Given the description of an element on the screen output the (x, y) to click on. 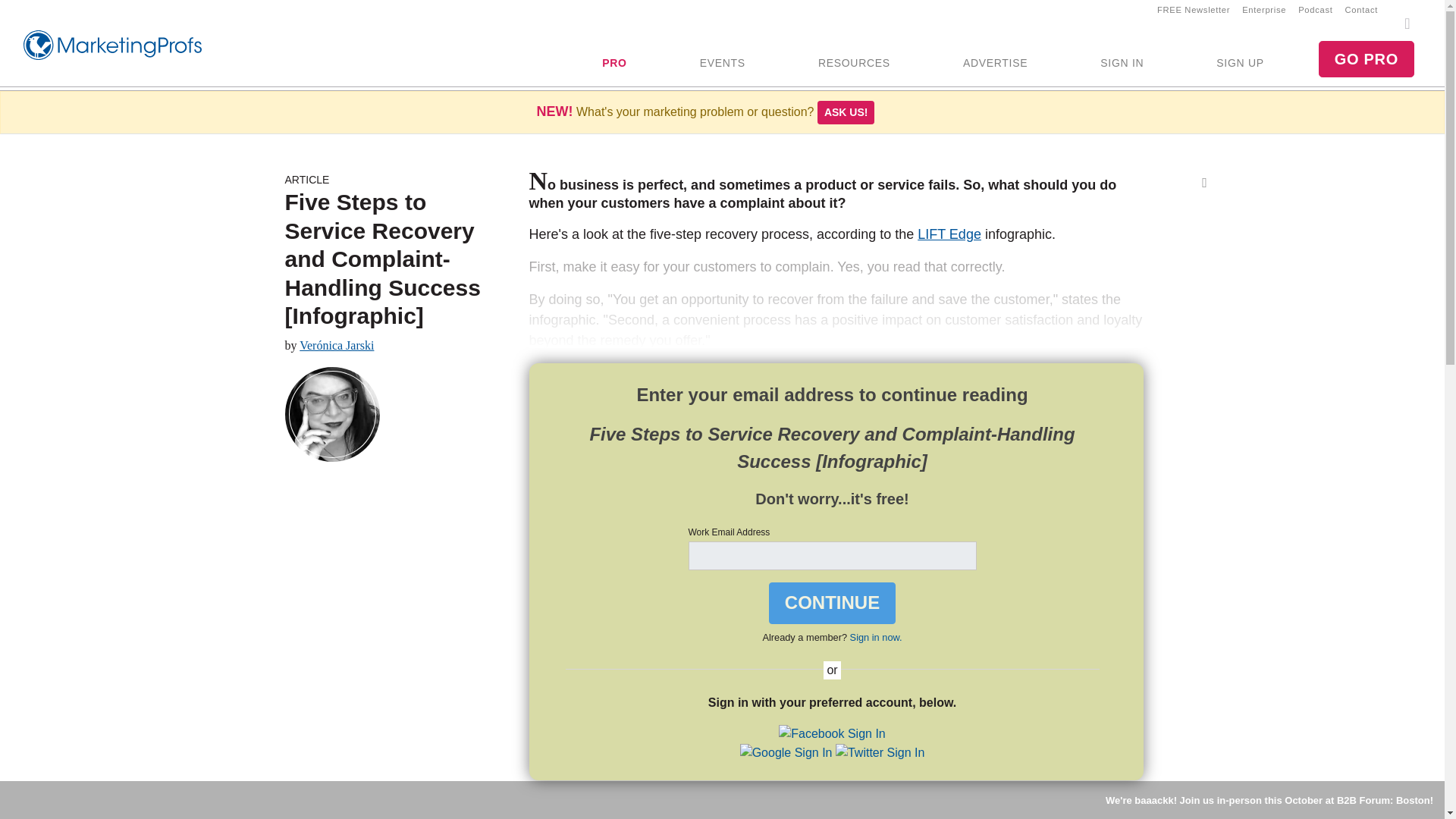
EVENTS (721, 62)
RESOURCES (853, 62)
Contact (1361, 9)
Enterprise (1264, 9)
Podcast (1315, 9)
FREE Newsletter (1193, 9)
PRO (614, 62)
